Given the description of an element on the screen output the (x, y) to click on. 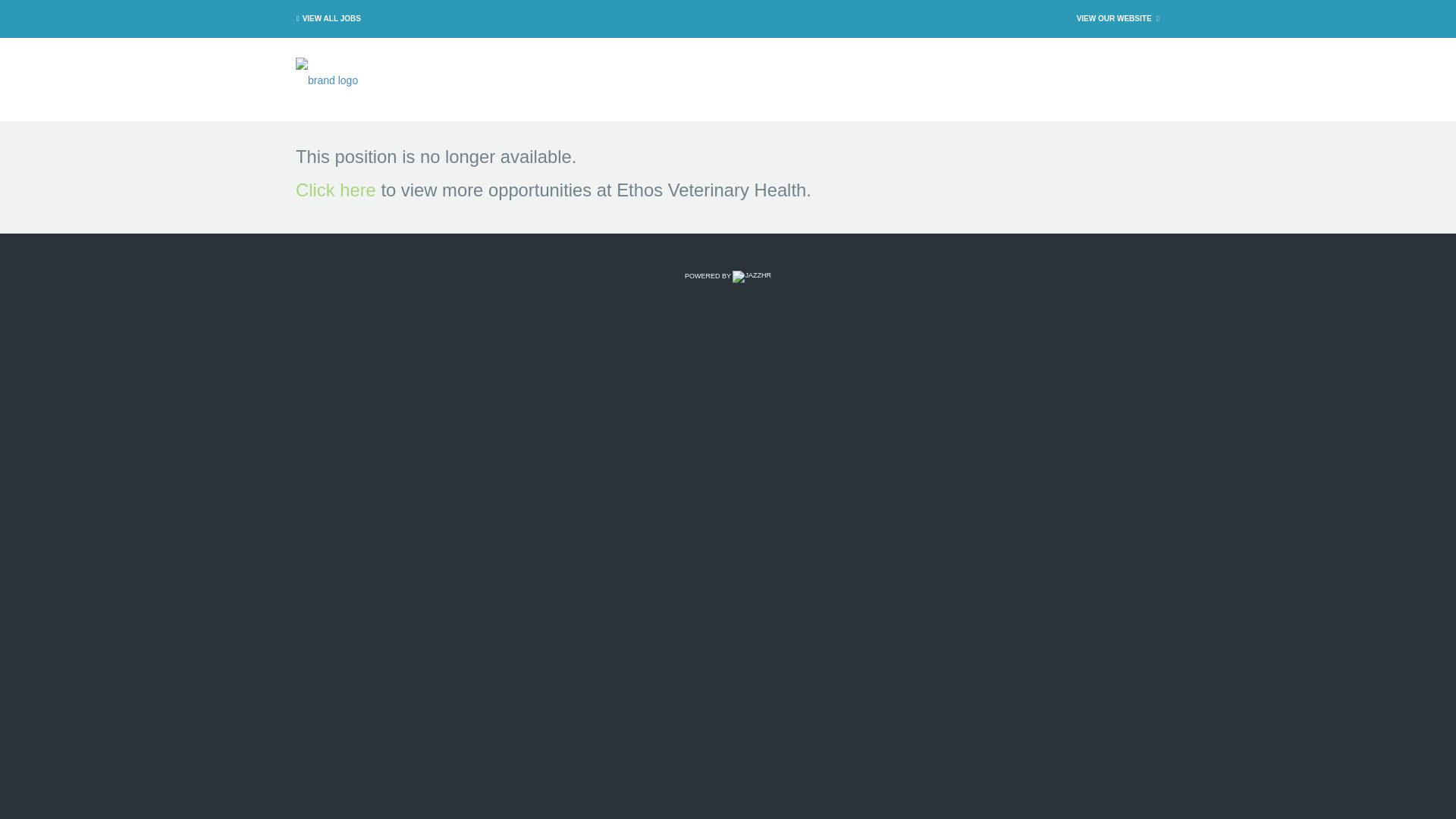
POWERED BY (727, 275)
VIEW OUR WEBSITE (1119, 18)
Click here (335, 189)
VIEW ALL JOBS (326, 18)
